Given the description of an element on the screen output the (x, y) to click on. 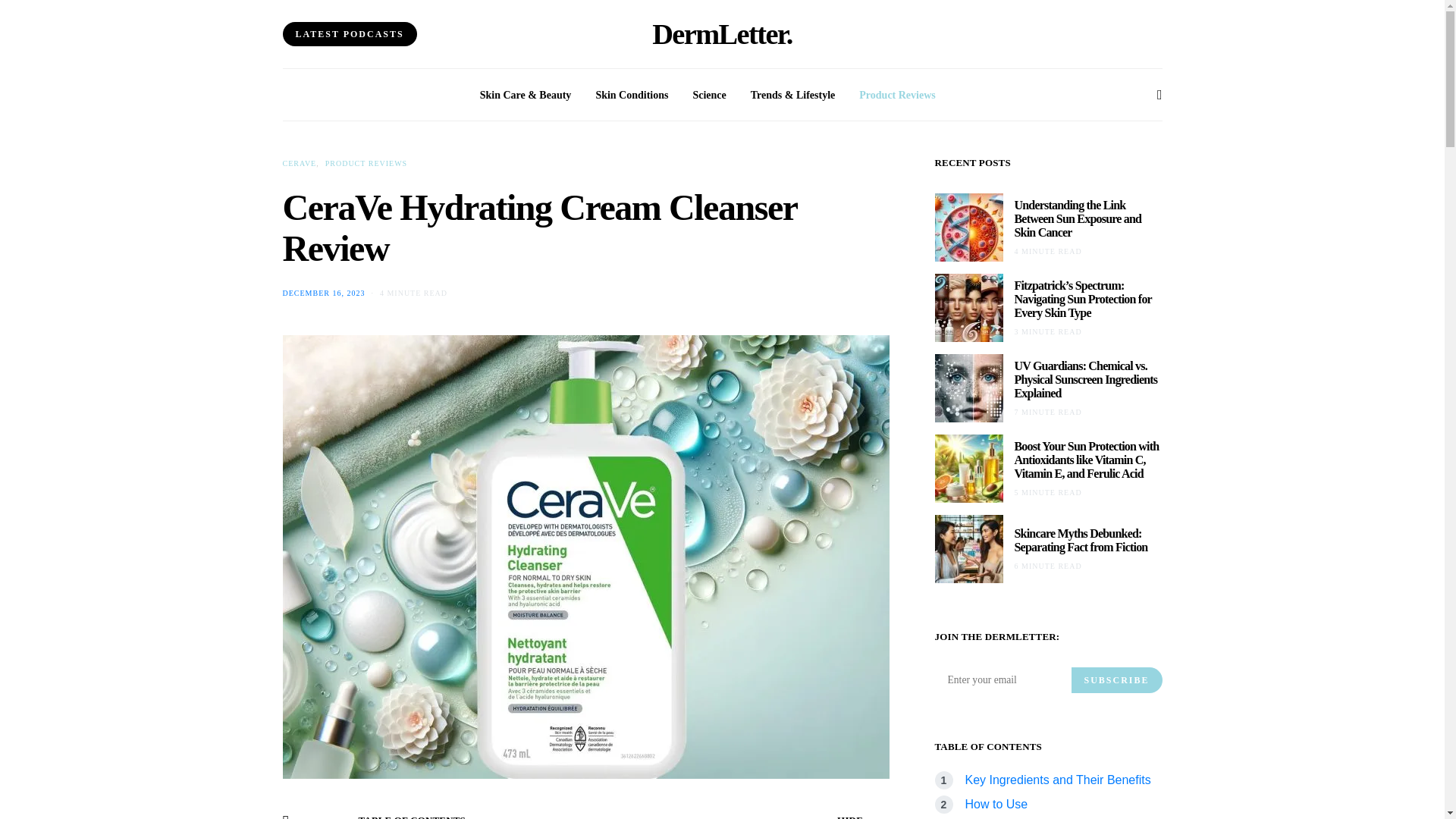
CERAVE (298, 162)
DECEMBER 16, 2023 (323, 293)
Product Reviews (896, 94)
LATEST PODCASTS (349, 33)
DermLetter. (722, 33)
PRODUCT REVIEWS (365, 162)
Skin Conditions (631, 94)
